Given the description of an element on the screen output the (x, y) to click on. 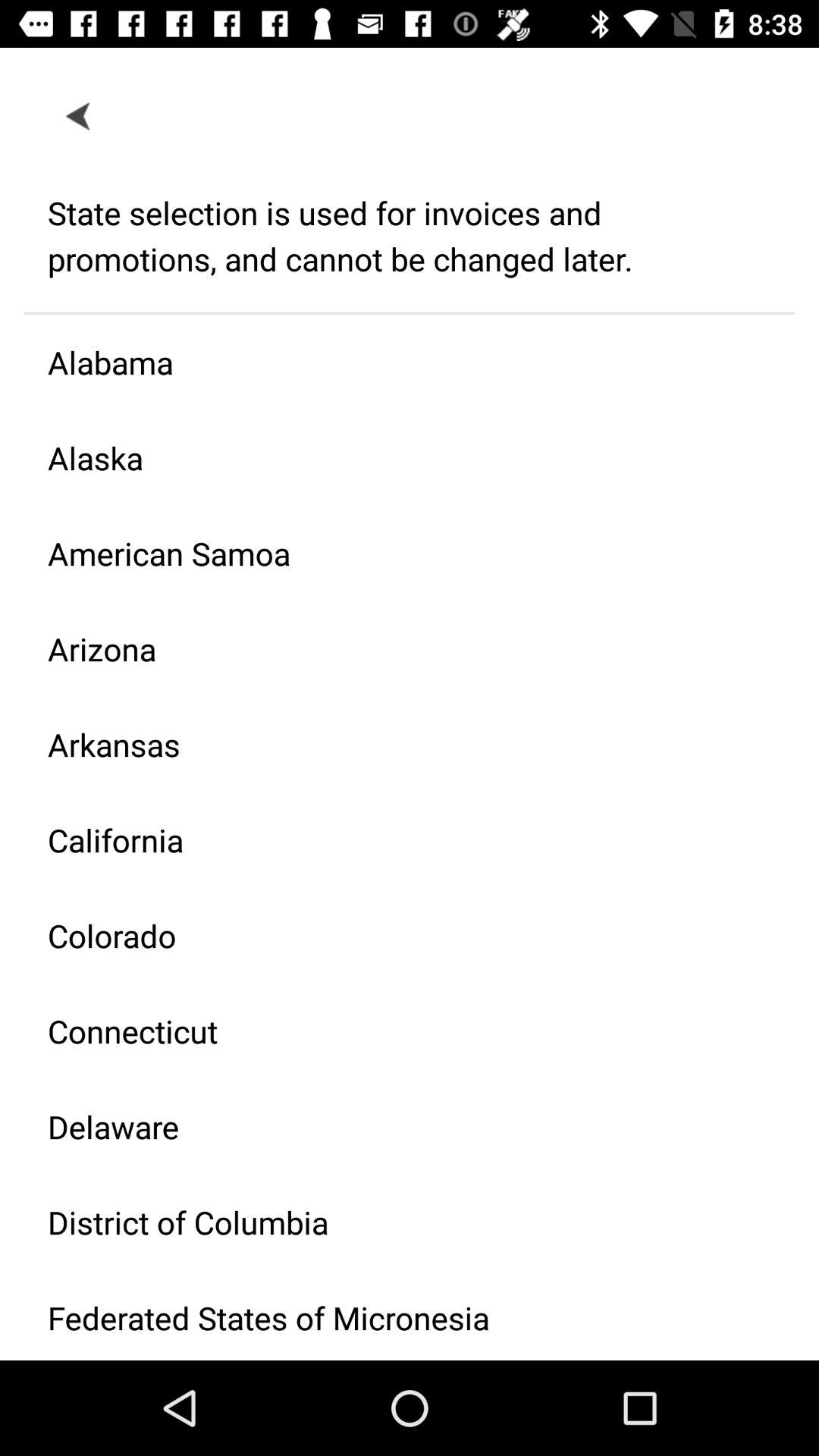
choose icon below california icon (397, 935)
